Given the description of an element on the screen output the (x, y) to click on. 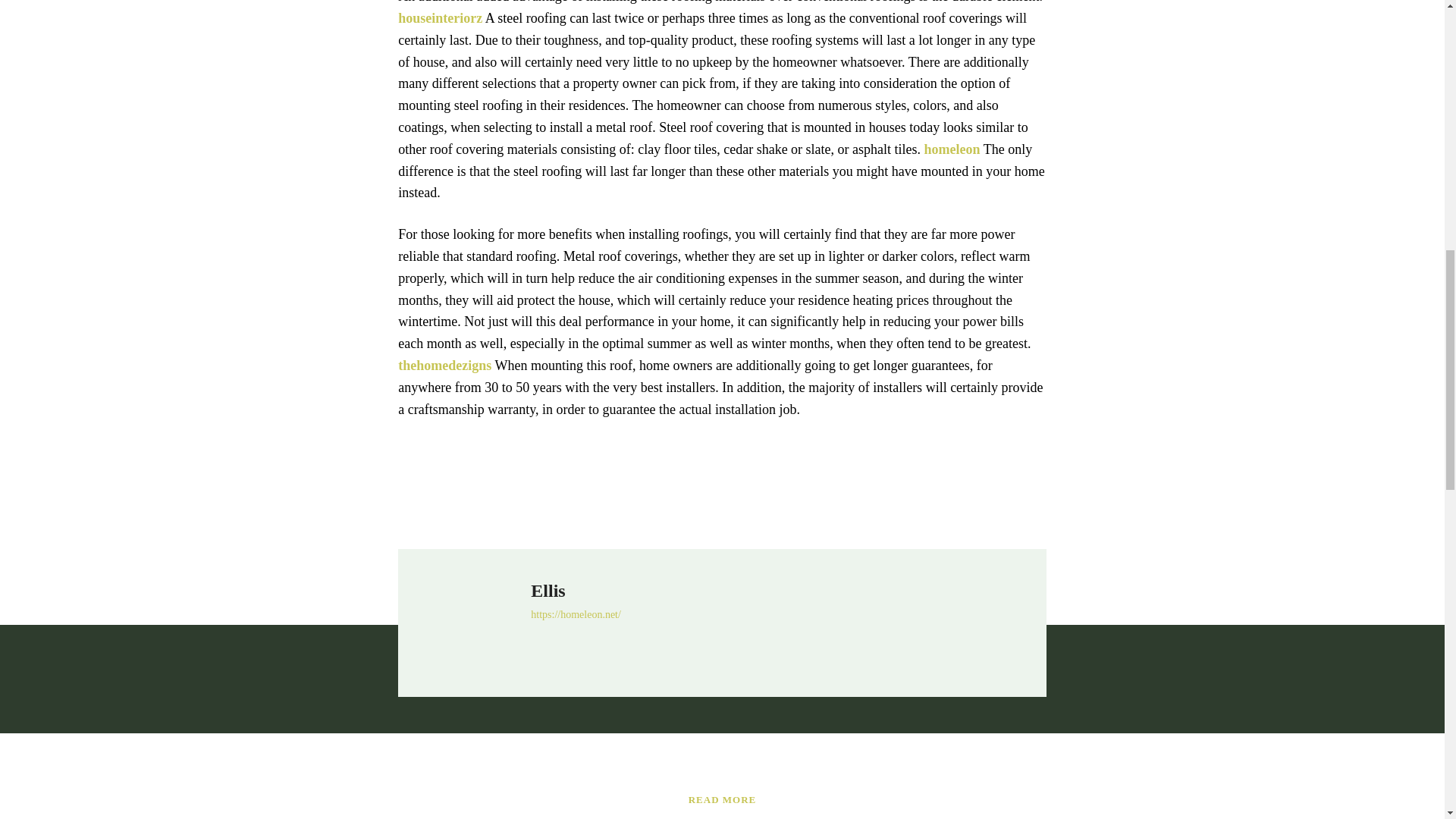
homeleon (951, 149)
houseinteriorz (439, 17)
Ellis (471, 622)
Ellis (576, 590)
thehomedezigns (444, 365)
